Given the description of an element on the screen output the (x, y) to click on. 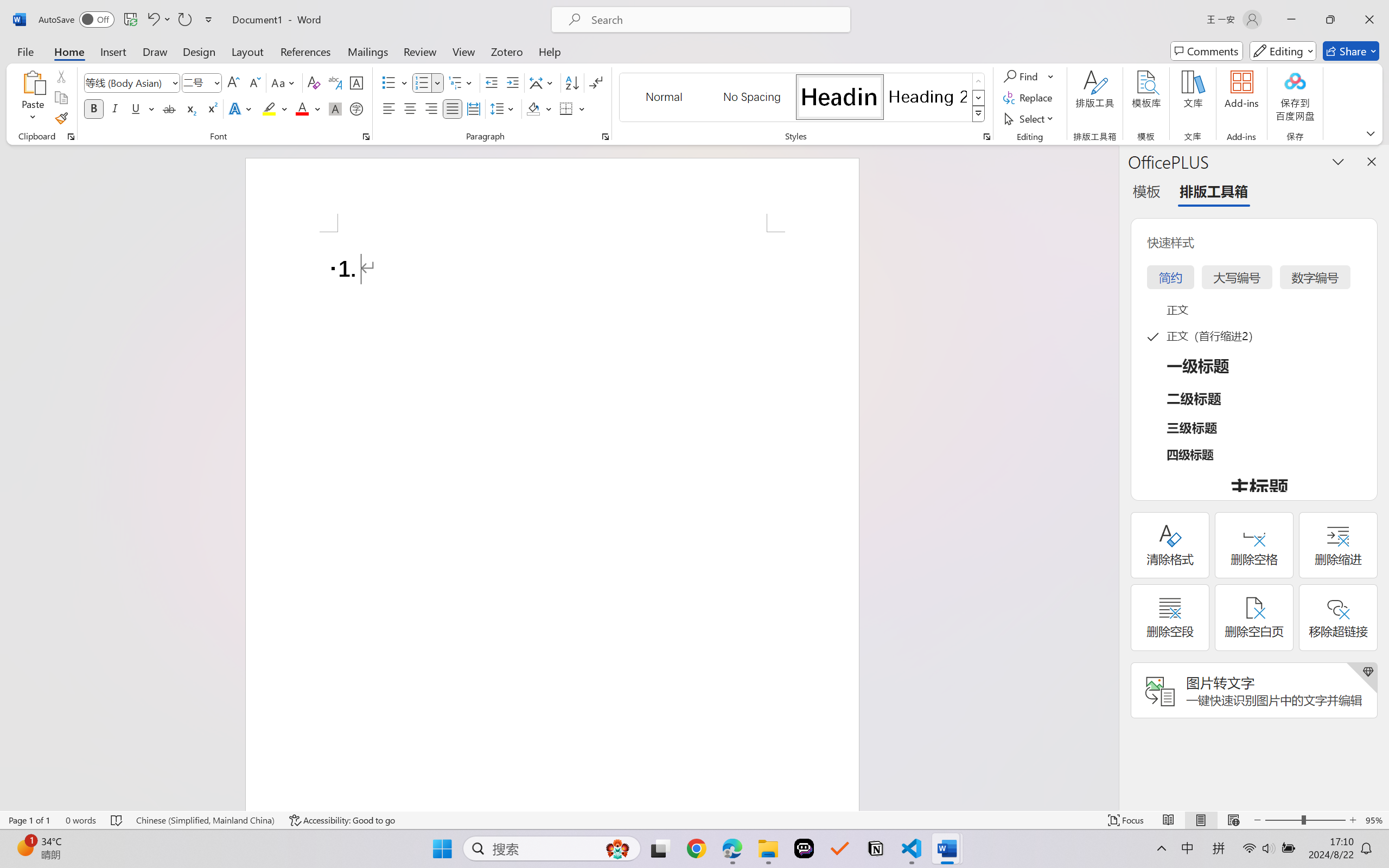
Class: MsoCommandBar (694, 819)
Microsoft search (715, 19)
